Given the description of an element on the screen output the (x, y) to click on. 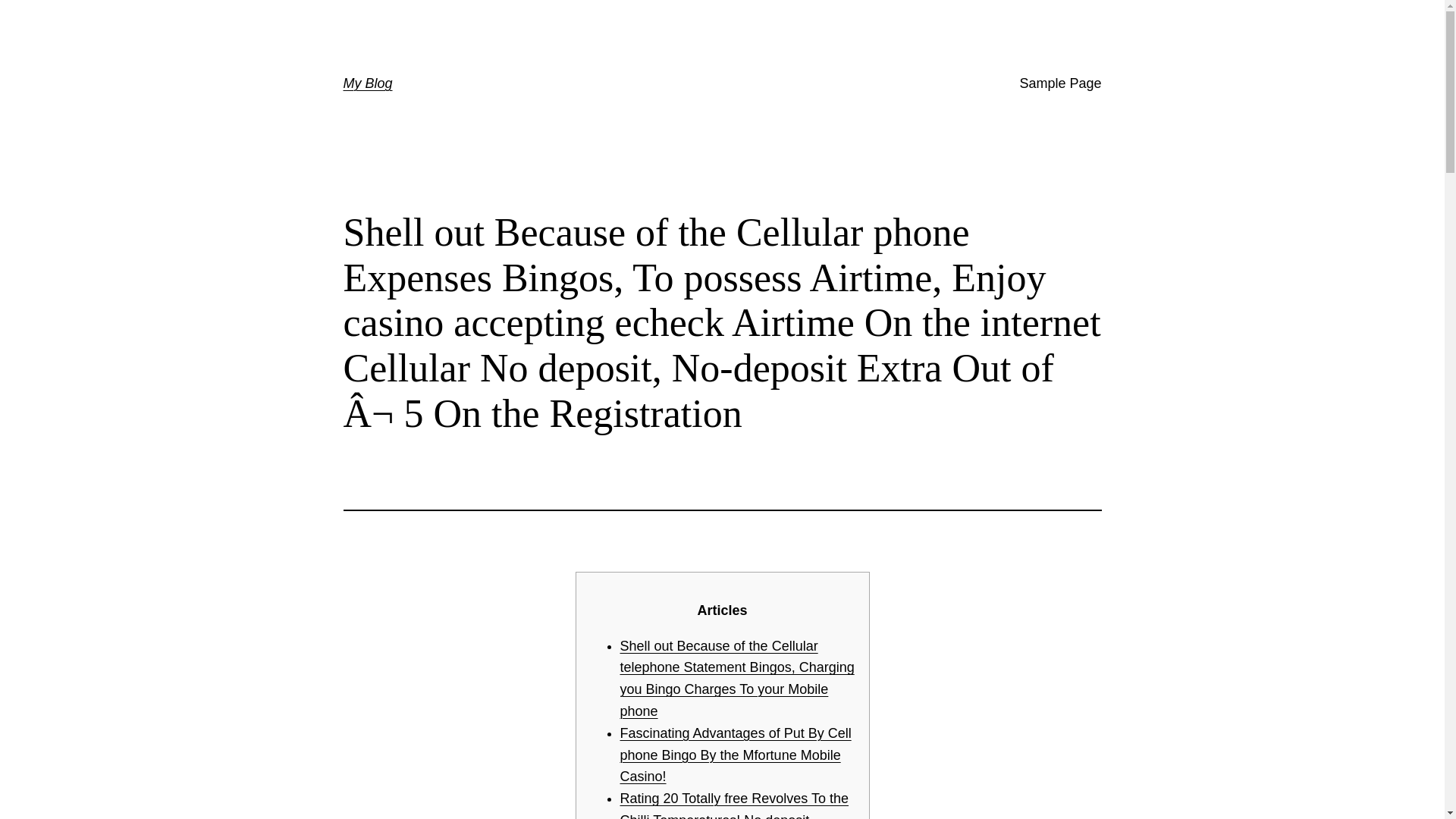
Sample Page (1059, 83)
My Blog (366, 83)
